Given the description of an element on the screen output the (x, y) to click on. 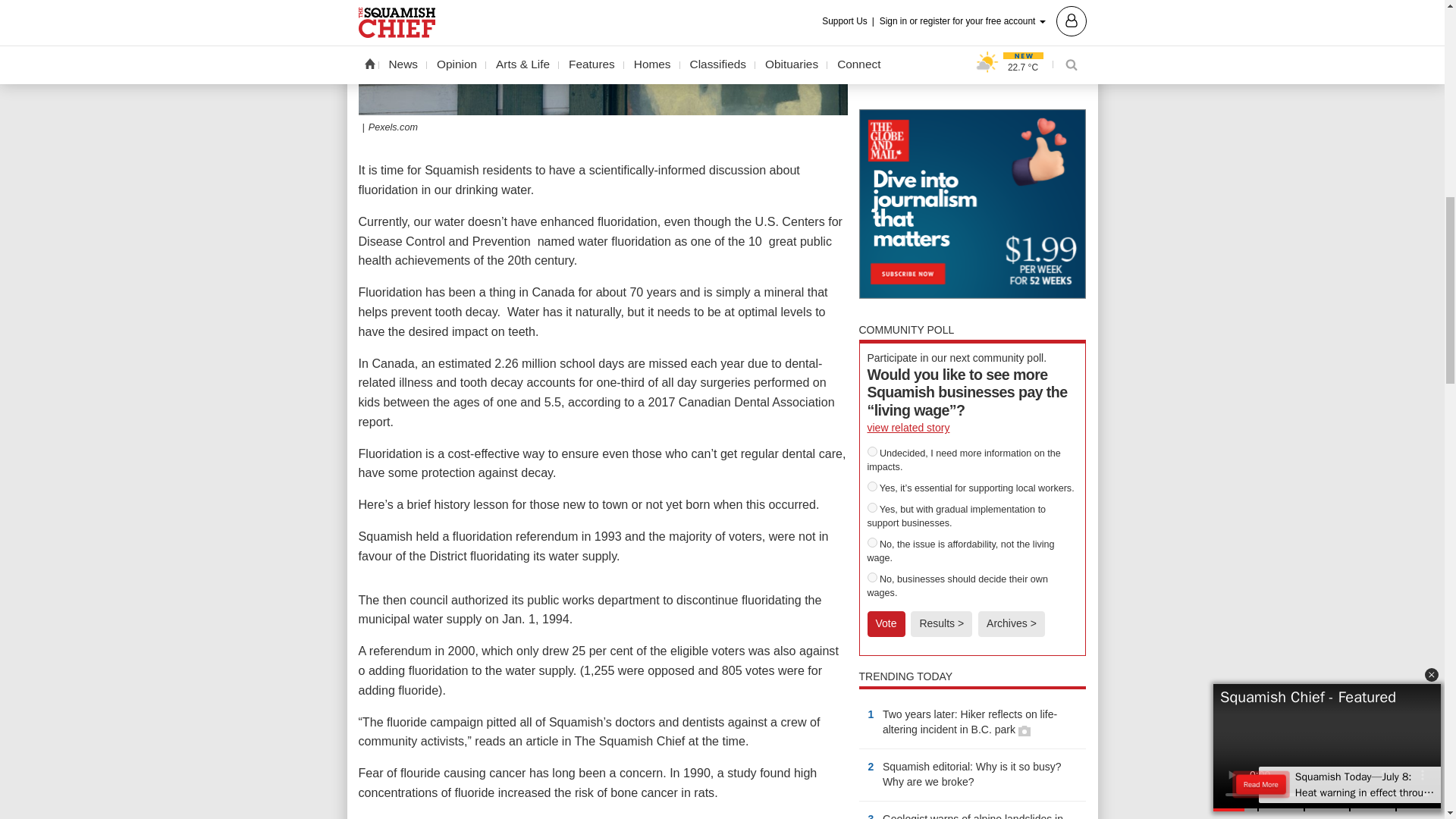
122897 (872, 542)
122898 (872, 451)
122896 (872, 577)
122894 (872, 486)
122895 (872, 507)
Has a gallery (1023, 730)
